Given the description of an element on the screen output the (x, y) to click on. 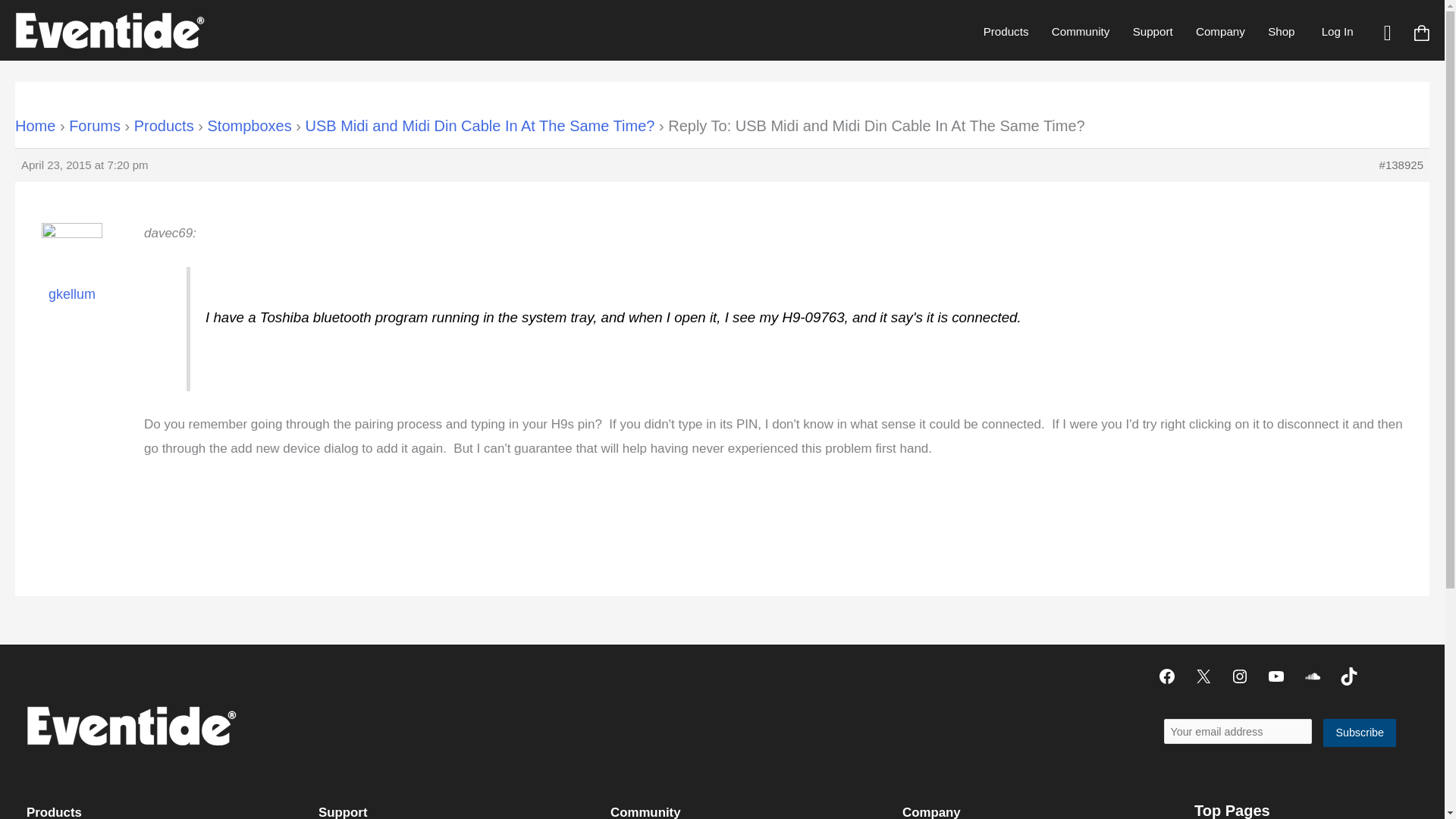
Shop (1281, 31)
eventide-logo-white (130, 725)
Products (1006, 31)
Subscribe (1359, 732)
View gkellum's profile (71, 273)
Log In (1337, 31)
Company (1220, 31)
Community (1081, 31)
Support (1152, 31)
